Given the description of an element on the screen output the (x, y) to click on. 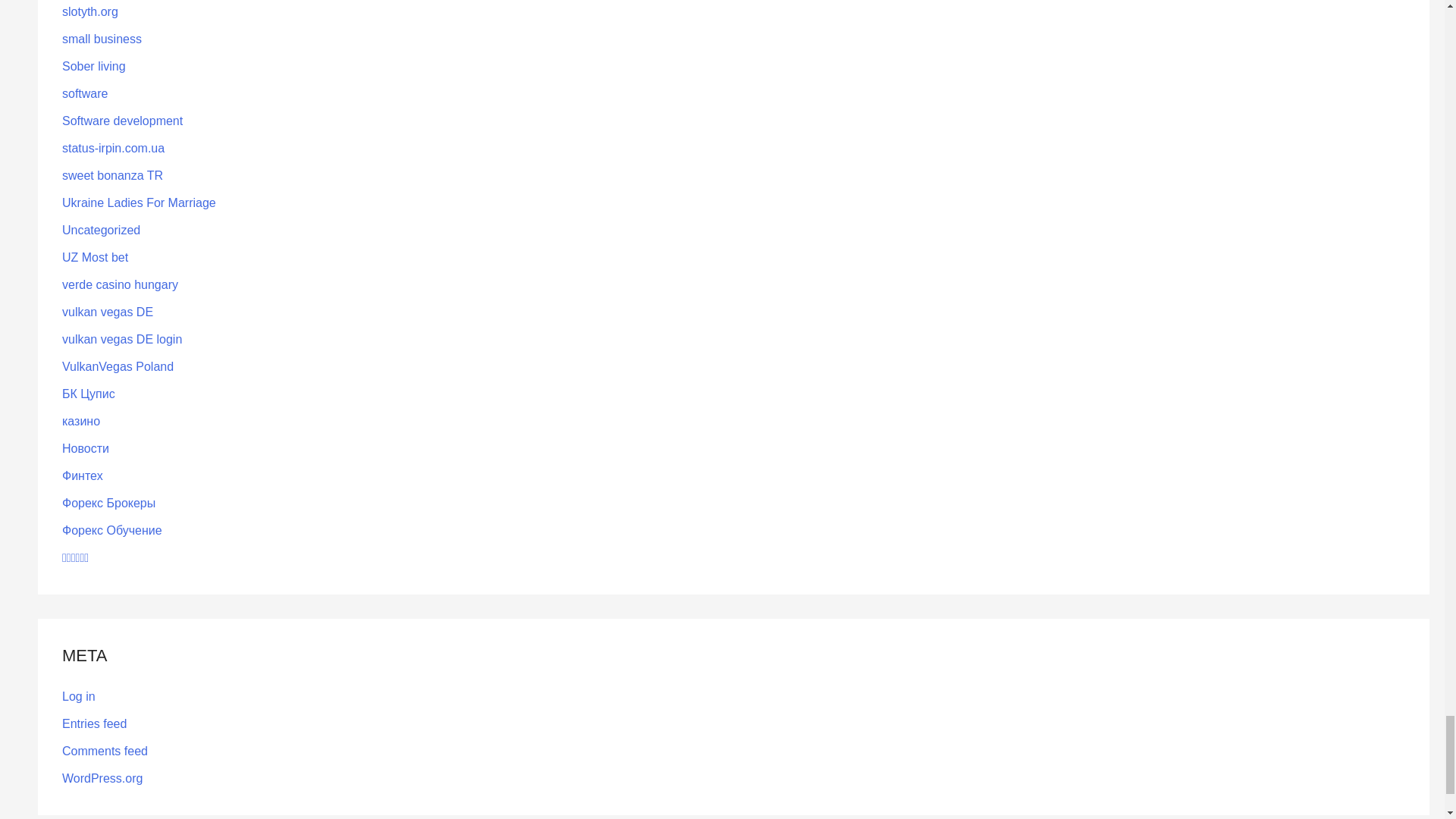
small business (101, 38)
software (84, 92)
